Given the description of an element on the screen output the (x, y) to click on. 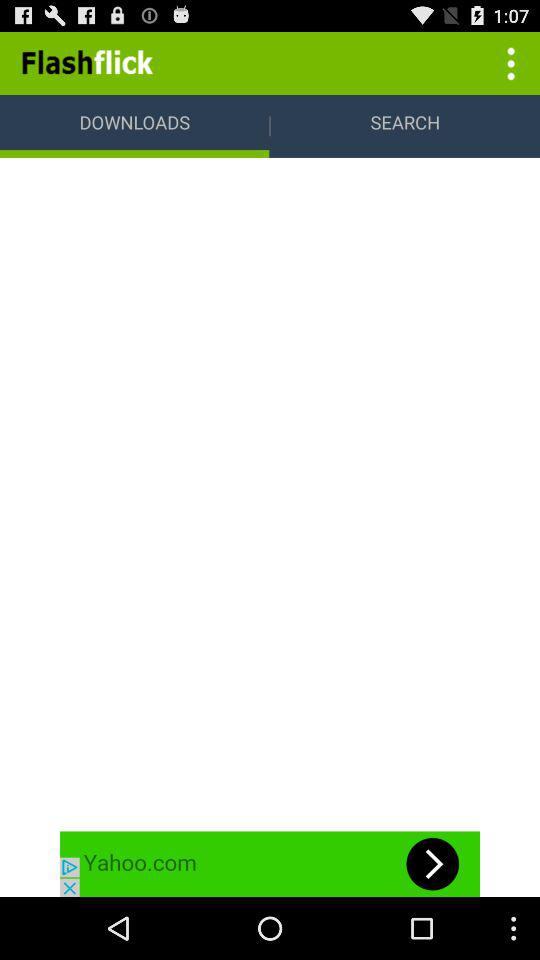
visit sponsor advertisement (270, 864)
